Given the description of an element on the screen output the (x, y) to click on. 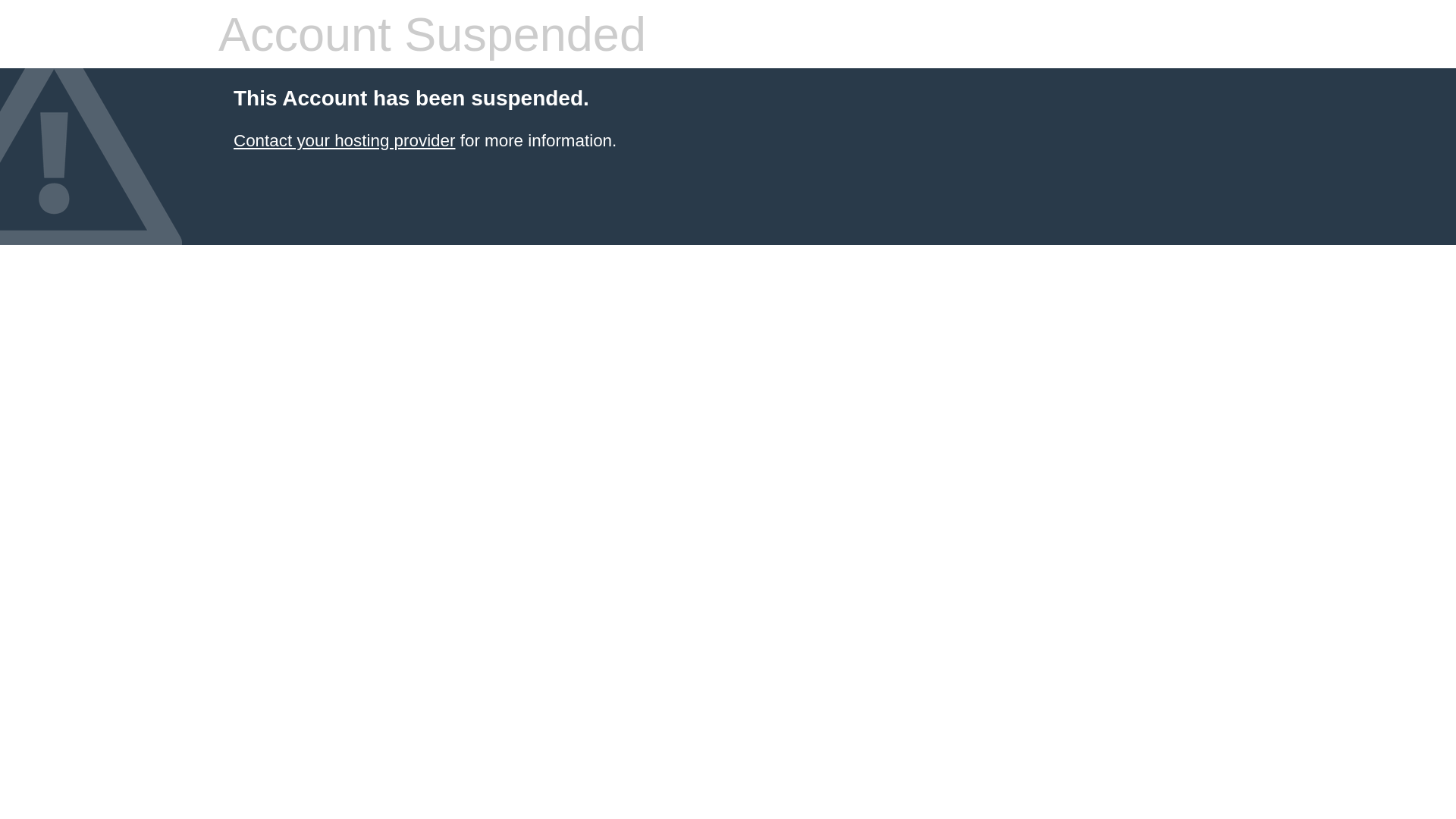
Contact your hosting provider Element type: text (344, 140)
